Given the description of an element on the screen output the (x, y) to click on. 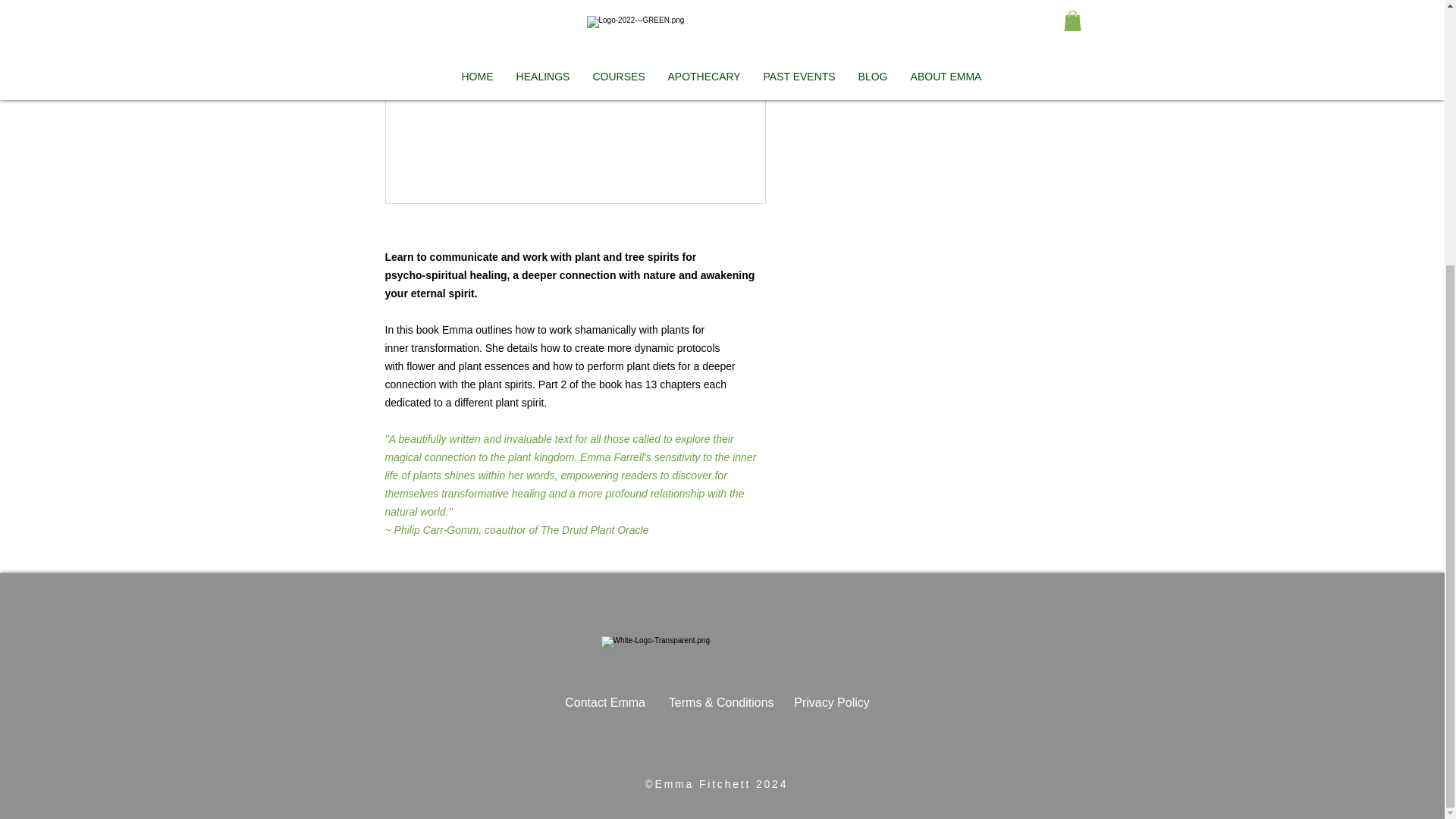
Contact Emma        (616, 702)
